Given the description of an element on the screen output the (x, y) to click on. 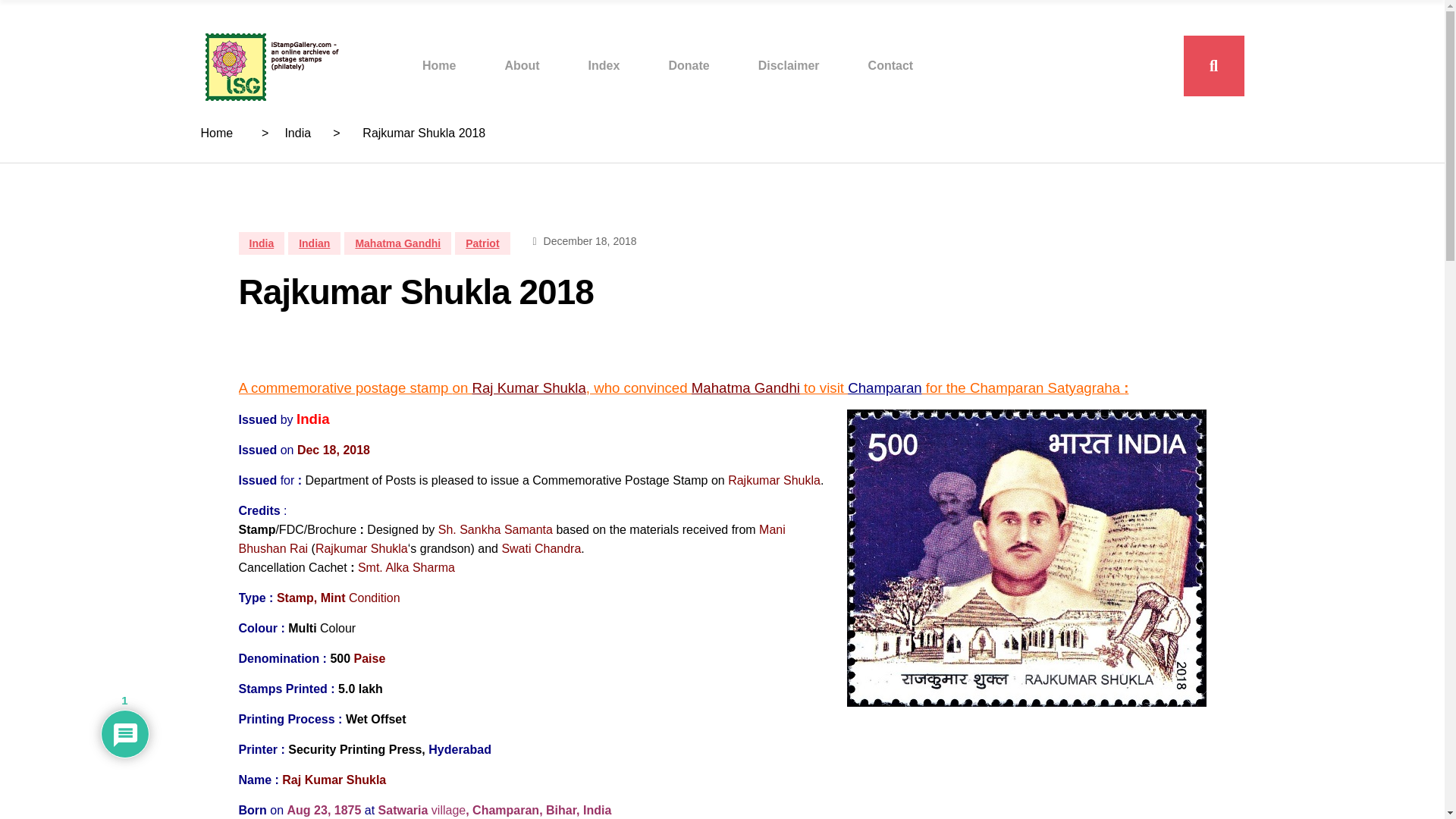
Index (604, 65)
Contact (890, 65)
India (260, 242)
Donate (688, 65)
Home (216, 132)
About (520, 65)
Indian (314, 242)
Patriot (481, 242)
Home (438, 65)
Disclaimer (788, 65)
India (297, 132)
Mahatma Gandhi (397, 242)
